Given the description of an element on the screen output the (x, y) to click on. 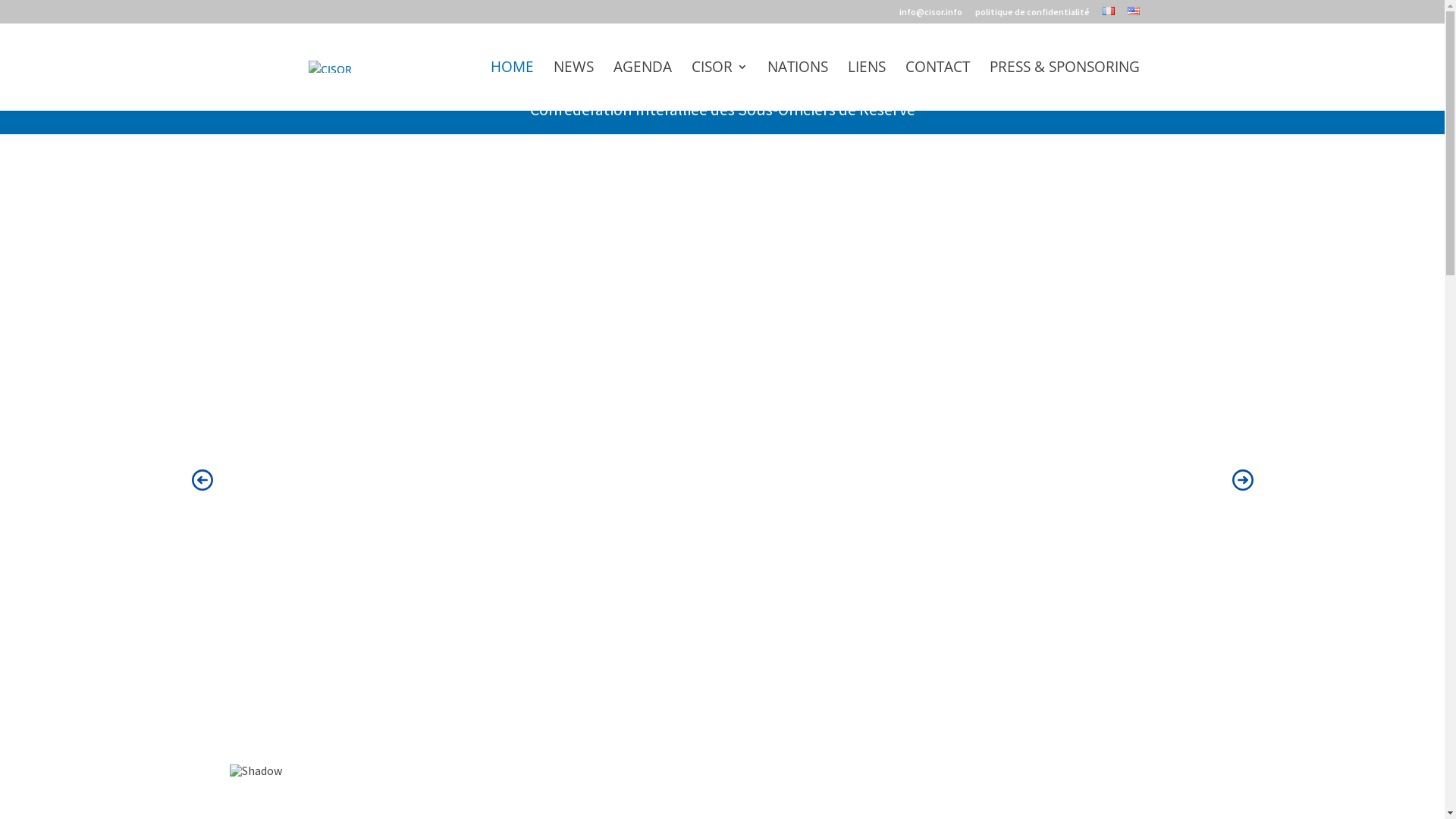
info@cisor.info Element type: text (930, 15)
NATIONS Element type: text (797, 85)
AGENDA Element type: text (641, 85)
PRESS & SPONSORING Element type: text (1063, 85)
NEWS Element type: text (573, 85)
HOME Element type: text (511, 85)
CONTACT Element type: text (937, 85)
LIENS Element type: text (866, 85)
CISOR Element type: text (719, 85)
